Given the description of an element on the screen output the (x, y) to click on. 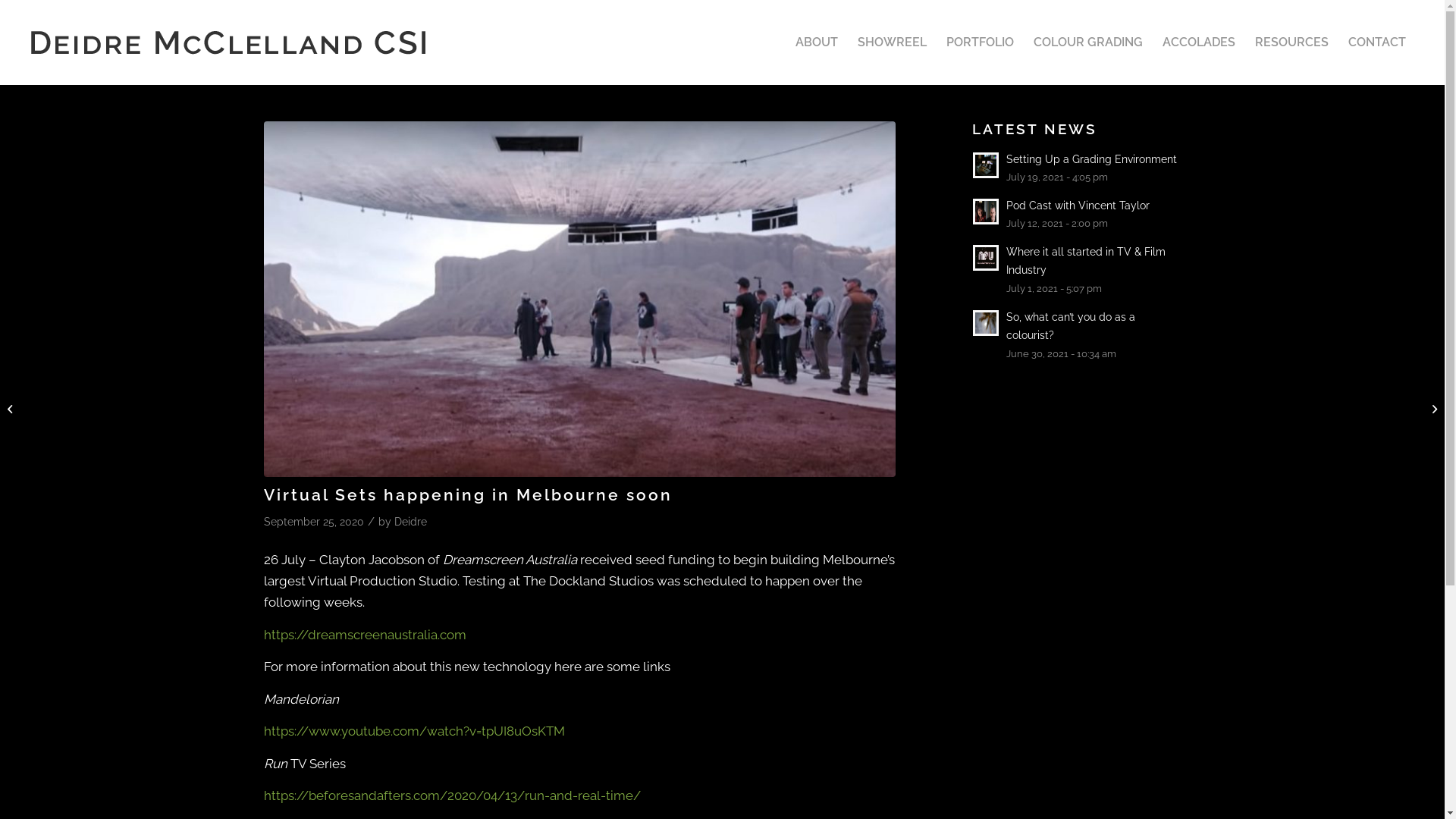
CONTACT Element type: text (1376, 42)
Pod Cast with Vincent Taylor Element type: text (1077, 204)
Mandalorian-Virtual-Sets Element type: hover (579, 298)
Read: Where it all started in TV & Film Industry Element type: hover (985, 257)
Deidre Element type: text (410, 521)
Read: Setting Up a Grading Environment Element type: hover (985, 164)
Read: Pod Cast with Vincent Taylor Element type: hover (985, 211)
https://dreamscreenaustralia.com Element type: text (364, 634)
logo3 Element type: hover (228, 42)
PORTFOLIO Element type: text (979, 42)
ACCOLADES Element type: text (1198, 42)
RESOURCES Element type: text (1291, 42)
ABOUT Element type: text (816, 42)
Where it all started in TV & Film Industry Element type: text (1085, 260)
SHOWREEL Element type: text (891, 42)
https://beforesandafters.com/2020/04/13/run-and-real-time/ Element type: text (451, 795)
https://www.youtube.com/watch?v=tpUI8uOsKTM Element type: text (413, 730)
Setting Up a Grading Environment Element type: text (1091, 158)
COLOUR GRADING Element type: text (1087, 42)
